Given the description of an element on the screen output the (x, y) to click on. 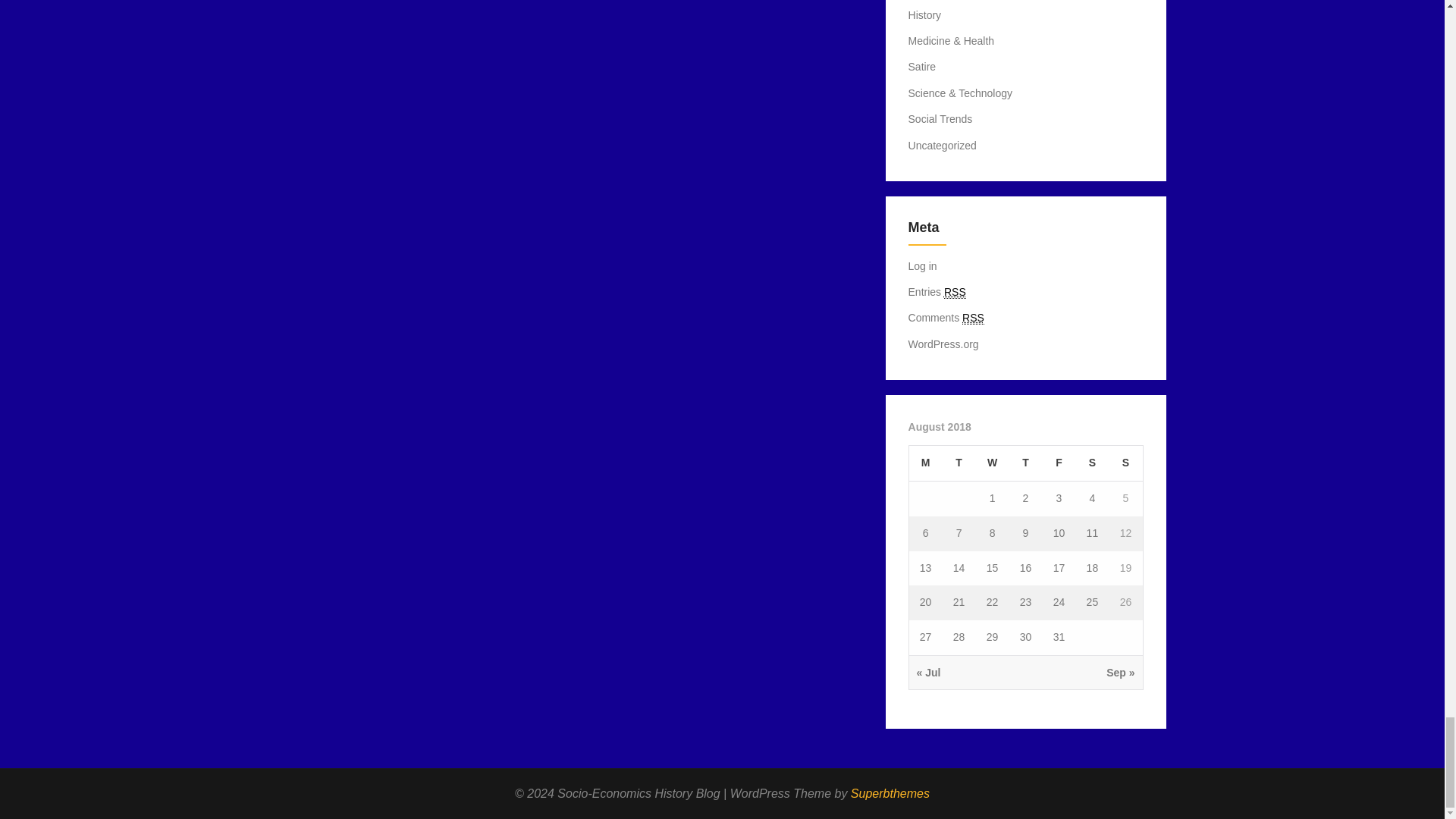
Sunday (1125, 462)
Saturday (1091, 462)
Really Simple Syndication (954, 291)
Really Simple Syndication (973, 318)
Thursday (1025, 462)
Wednesday (992, 462)
Friday (1058, 462)
Tuesday (958, 462)
Monday (925, 462)
